Given the description of an element on the screen output the (x, y) to click on. 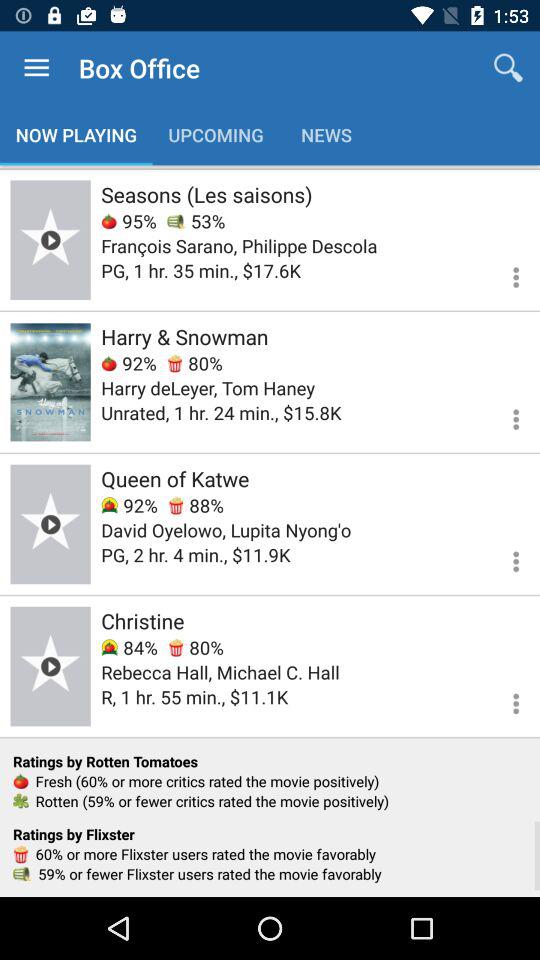
options (503, 416)
